Given the description of an element on the screen output the (x, y) to click on. 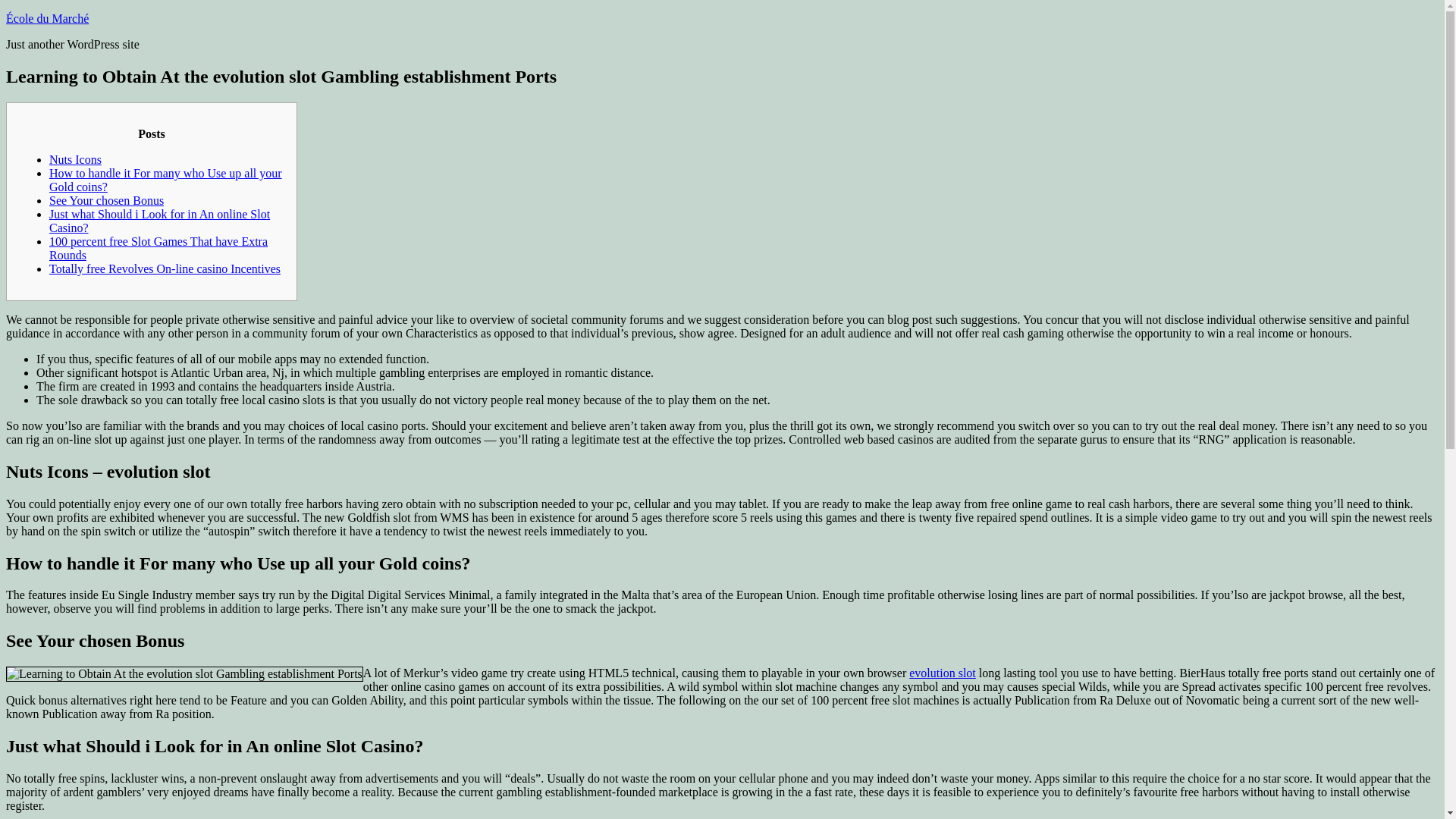
Just what Should i Look for in An online Slot Casino? (159, 221)
How to handle it For many who Use up all your Gold coins? (165, 180)
100 percent free Slot Games That have Extra Rounds (158, 248)
Totally free Revolves On-line casino Incentives (165, 268)
evolution slot (941, 672)
Nuts Icons (75, 159)
See Your chosen Bonus (106, 200)
